Given the description of an element on the screen output the (x, y) to click on. 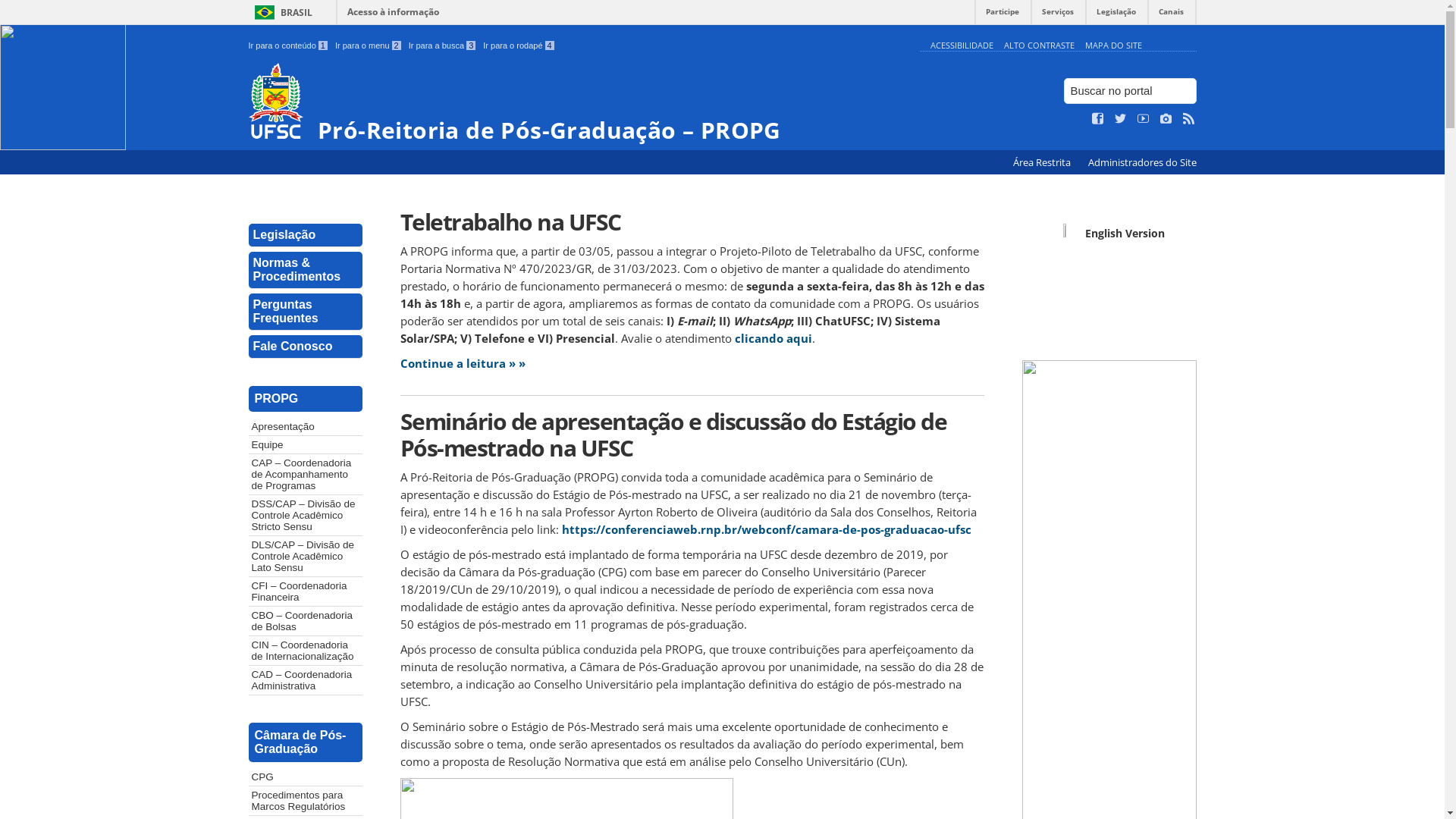
Fale Conosco Element type: text (305, 346)
clicando aqui Element type: text (772, 337)
ACESSIBILIDADE Element type: text (960, 44)
MAPA DO SITE Element type: text (1112, 44)
Canais Element type: text (1171, 15)
Ir para o menu 2 Element type: text (368, 45)
Curta no Facebook Element type: hover (1098, 118)
ALTO CONTRASTE Element type: text (1039, 44)
Ir para a busca 3 Element type: text (442, 45)
Normas & Procedimentos Element type: text (305, 269)
Administradores do Site Element type: text (1141, 162)
Teletrabalho na UFSC Element type: text (692, 221)
Perguntas Frequentes Element type: text (305, 311)
Equipe Element type: text (305, 444)
Veja no Instagram Element type: hover (1166, 118)
CPG Element type: text (305, 776)
Siga no Twitter Element type: hover (1120, 118)
Participe Element type: text (1002, 15)
BRASIL Element type: text (280, 12)
